Given the description of an element on the screen output the (x, y) to click on. 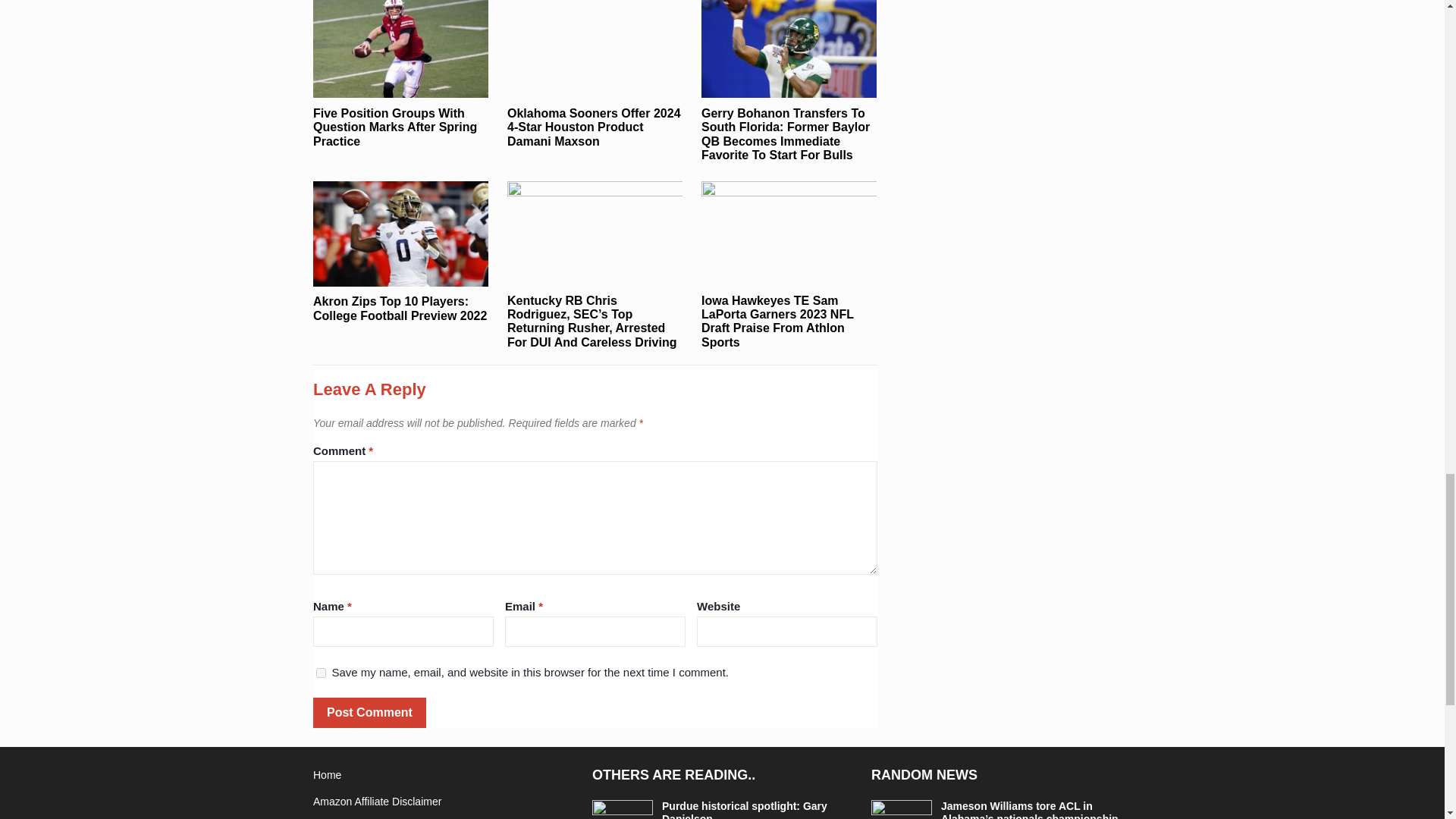
Post Comment (369, 712)
yes (320, 673)
